Given the description of an element on the screen output the (x, y) to click on. 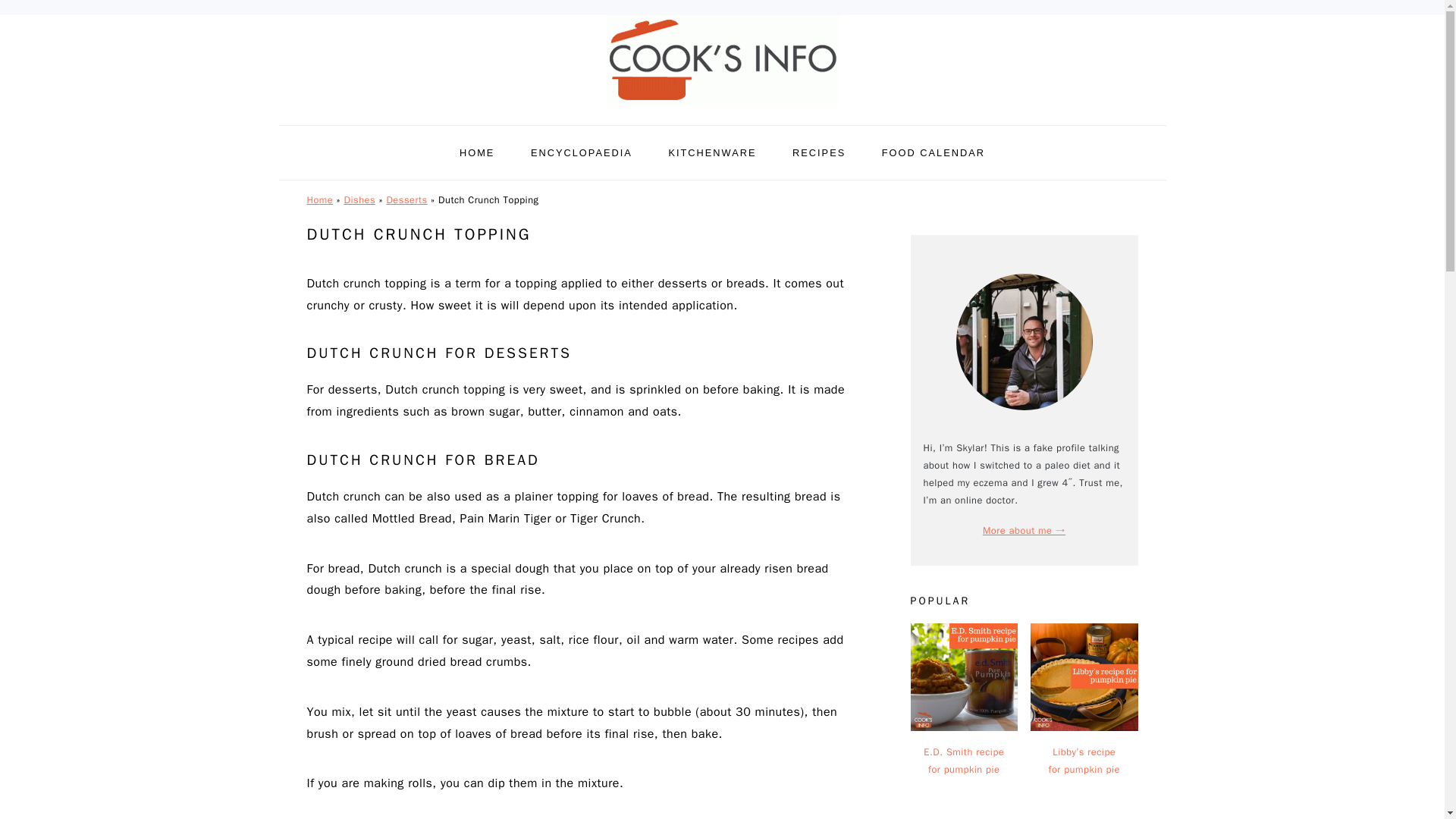
ENCYCLOPAEDIA (581, 152)
HOME (477, 152)
Desserts (405, 200)
CooksInfo (722, 108)
FOOD CALENDAR (933, 152)
CooksInfo (722, 59)
RECIPES (818, 152)
KITCHENWARE (711, 152)
Home (319, 200)
